Given the description of an element on the screen output the (x, y) to click on. 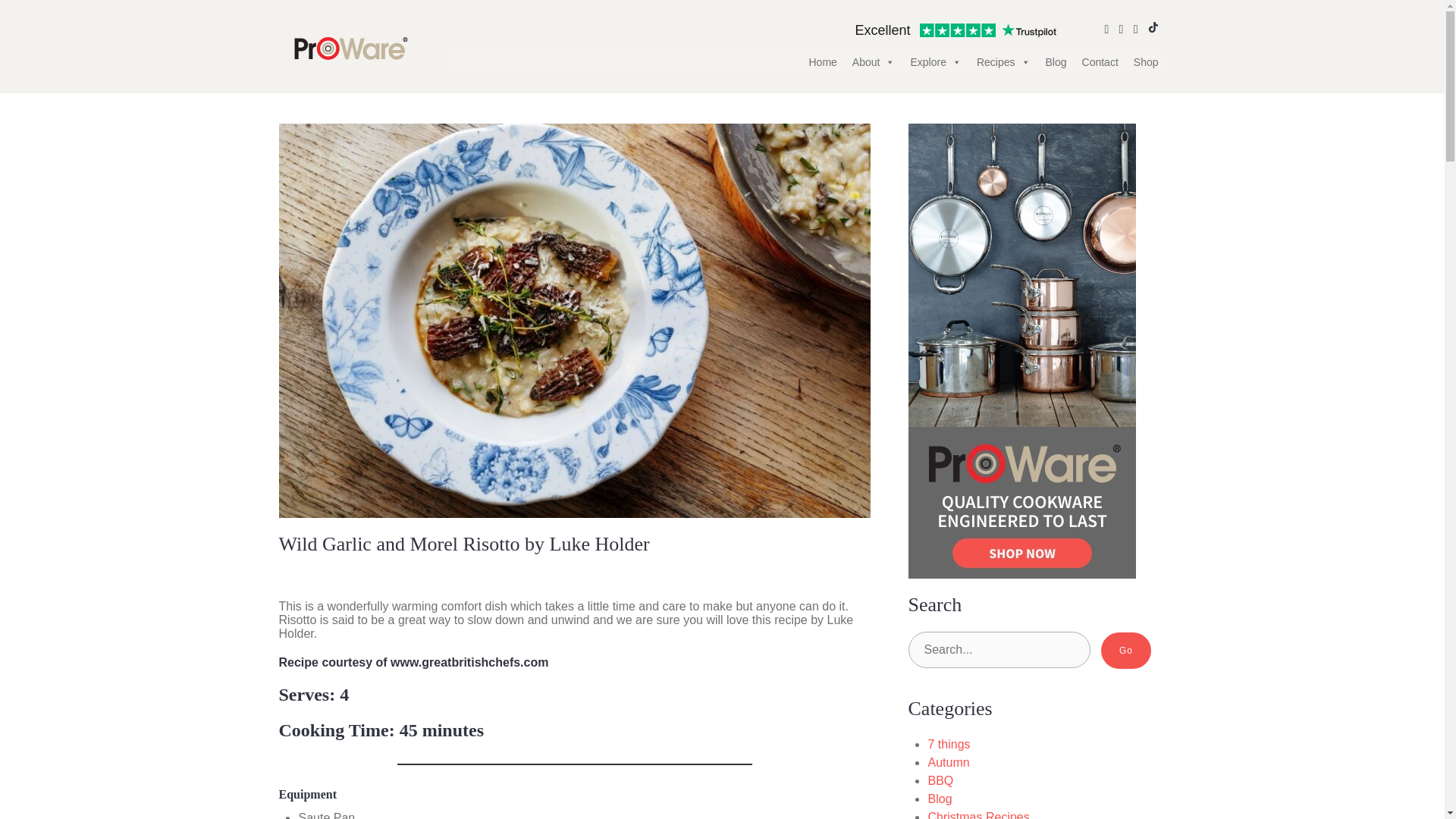
About (873, 61)
Go (1125, 650)
Explore (935, 61)
Shop (1145, 61)
Blog (1056, 61)
Contact (1099, 61)
Home (822, 61)
Recipes (1003, 61)
Customer reviews powered by Trustpilot (954, 29)
